Given the description of an element on the screen output the (x, y) to click on. 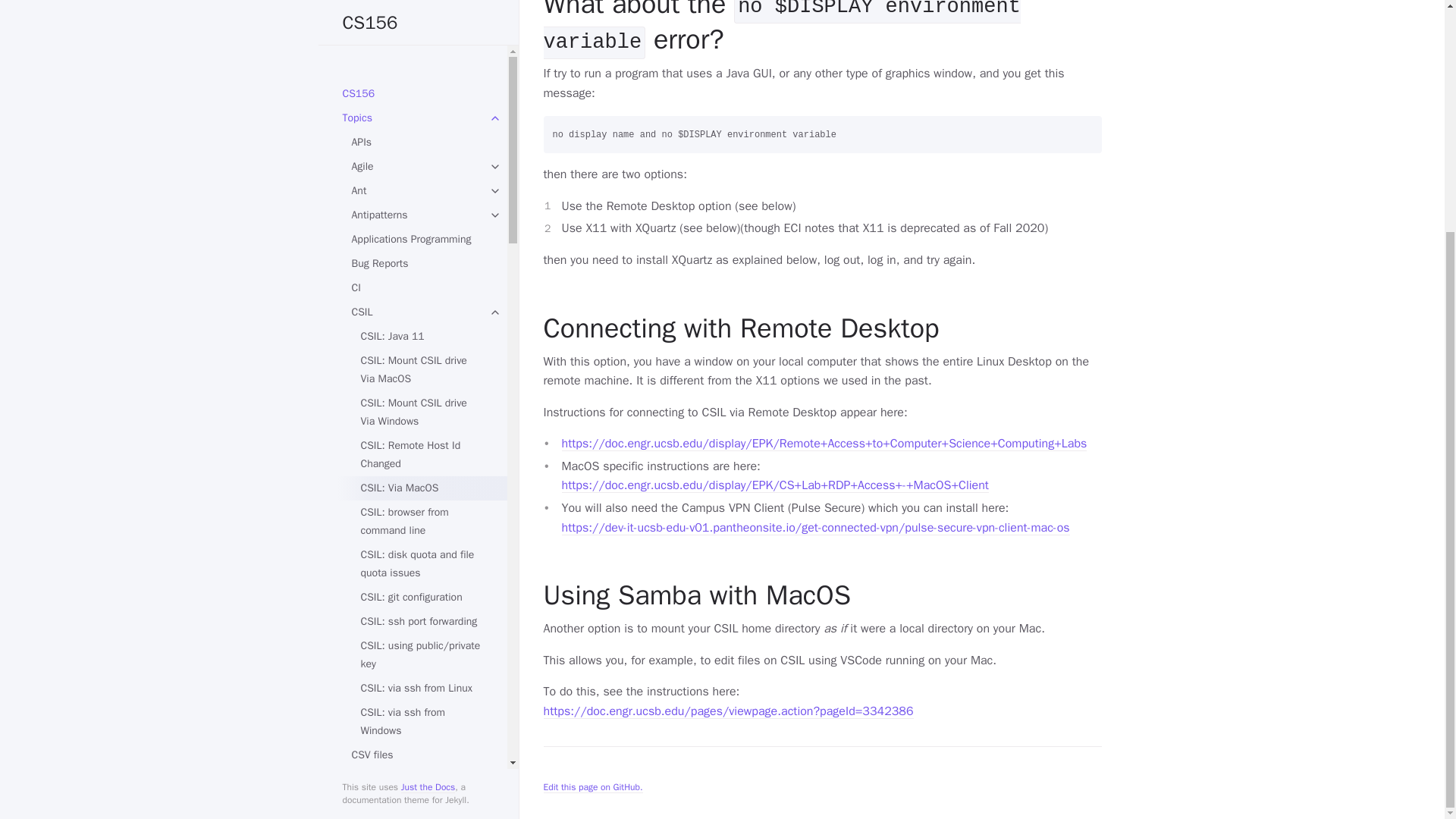
CSIL: browser from command line (421, 207)
CSIL (416, 5)
CSIL: via ssh from Linux (421, 374)
CSV files (416, 441)
CSIL: Mount CSIL drive Via MacOS (421, 55)
CSIL: Via MacOS (421, 174)
CSIL: git configuration (421, 283)
CSIL: via ssh from Windows (421, 407)
CSIL: Mount CSIL drive Via Windows (421, 97)
CSIL: disk quota and file quota issues (421, 250)
